Given the description of an element on the screen output the (x, y) to click on. 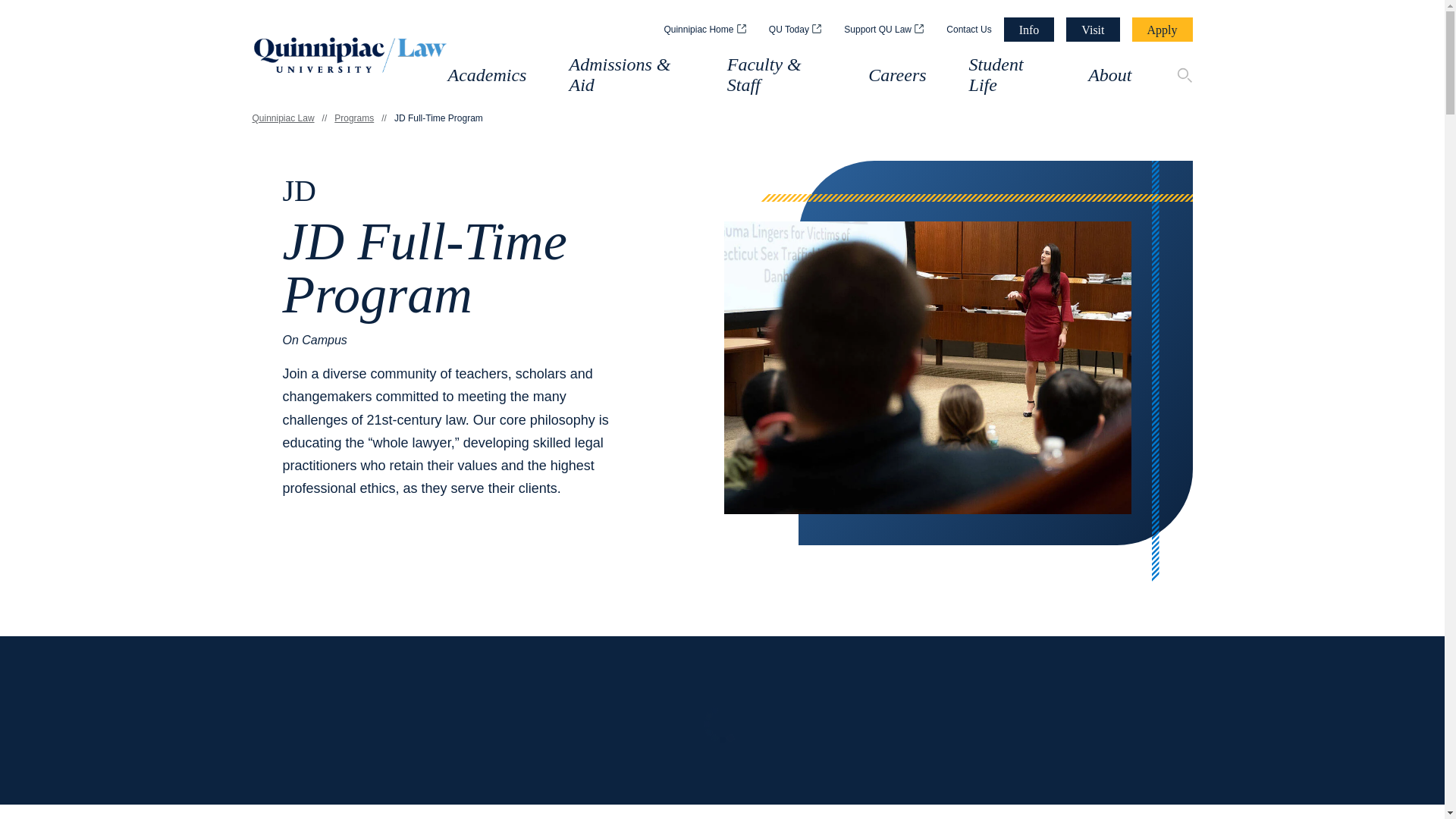
Academics (485, 75)
About (1109, 75)
Careers (896, 75)
Student Life (1007, 75)
